Given the description of an element on the screen output the (x, y) to click on. 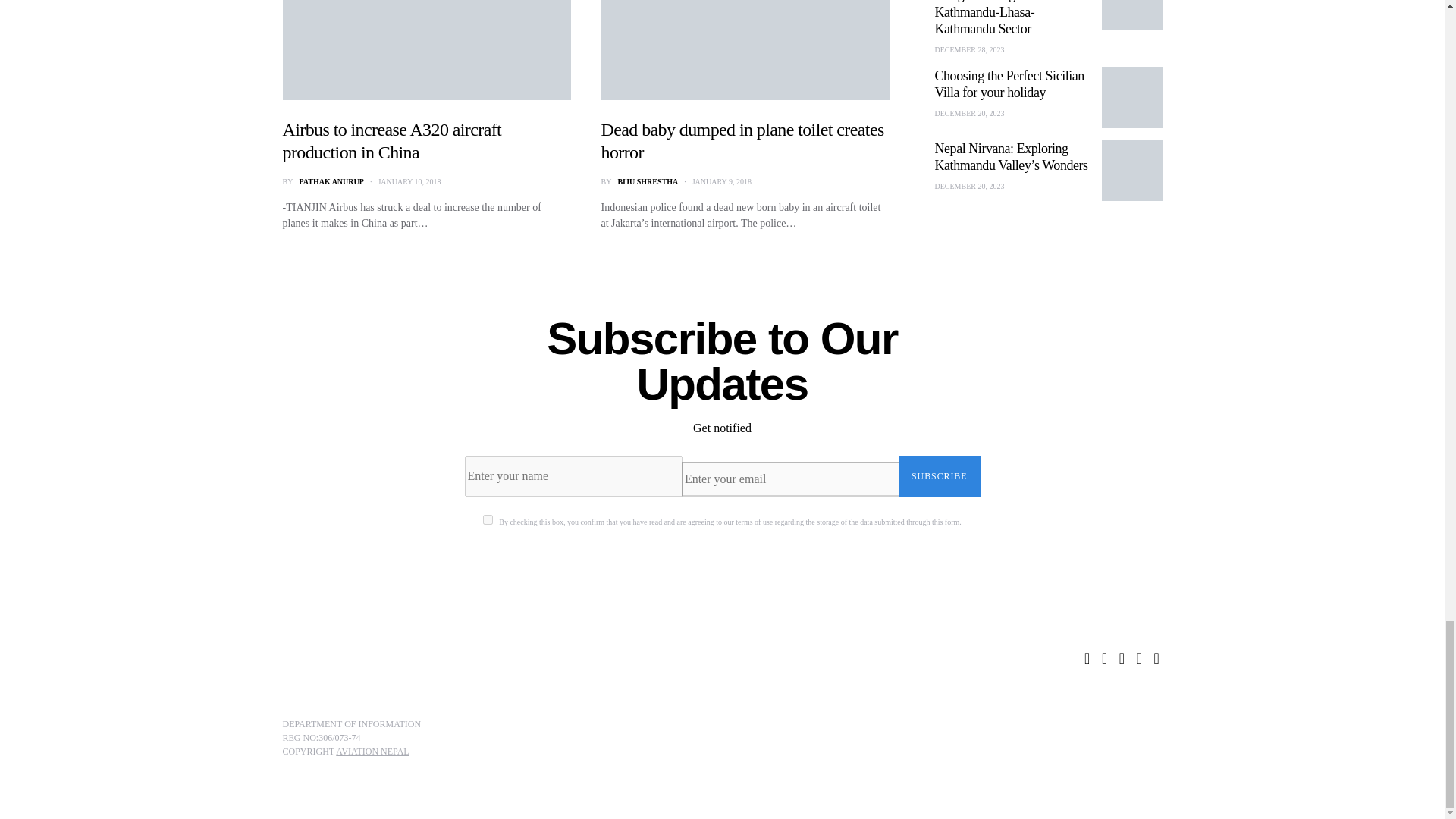
View all posts by Pathak Anurup (330, 181)
View all posts by Biju Shrestha (647, 181)
on (488, 519)
